Given the description of an element on the screen output the (x, y) to click on. 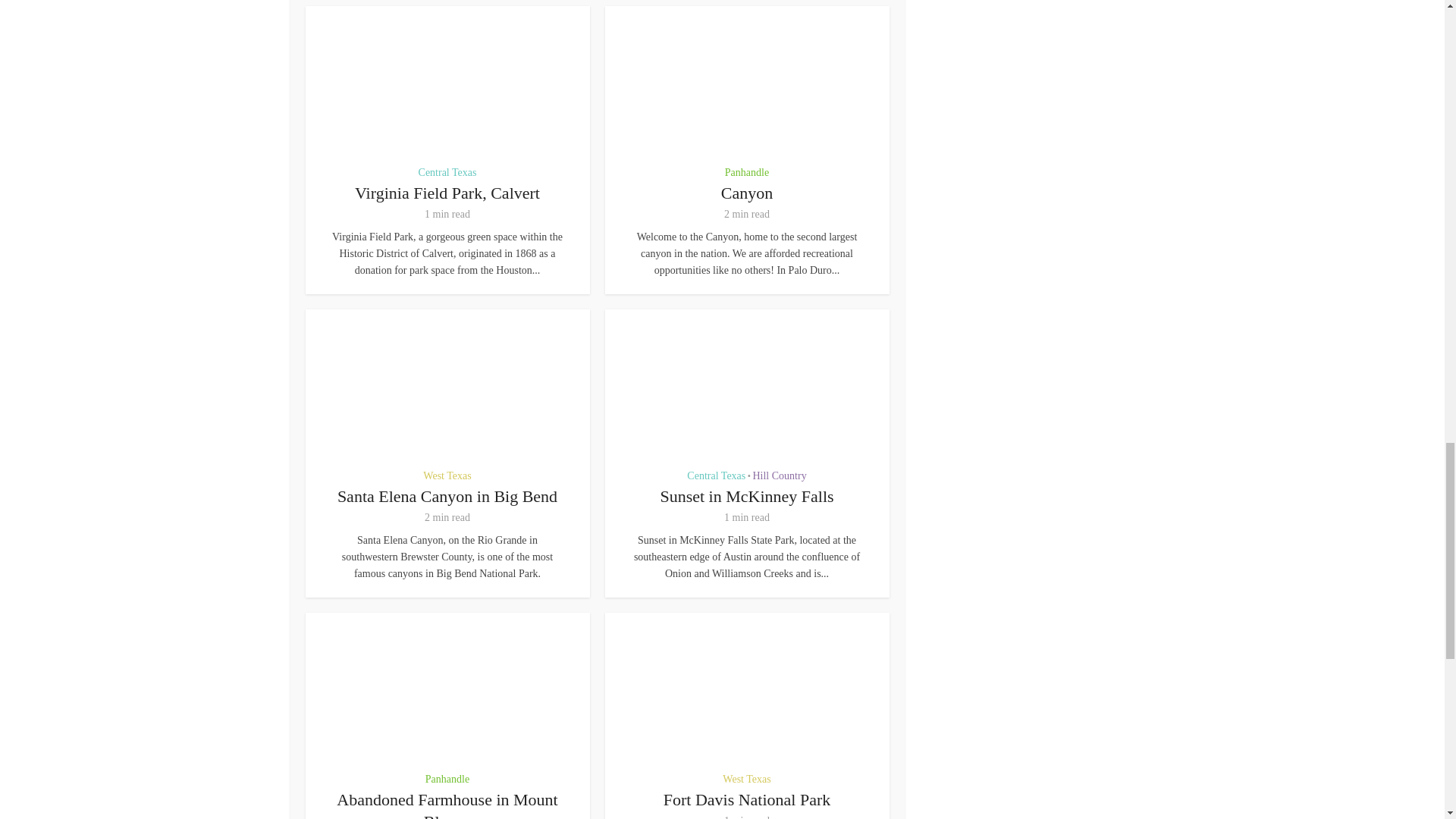
Virginia Field Park, Calvert (447, 192)
Sunset in McKinney Falls (745, 496)
Santa Elena Canyon in Big Bend (447, 496)
Abandoned Farmhouse in Mount Blanco (446, 804)
Canyon (746, 192)
